Given the description of an element on the screen output the (x, y) to click on. 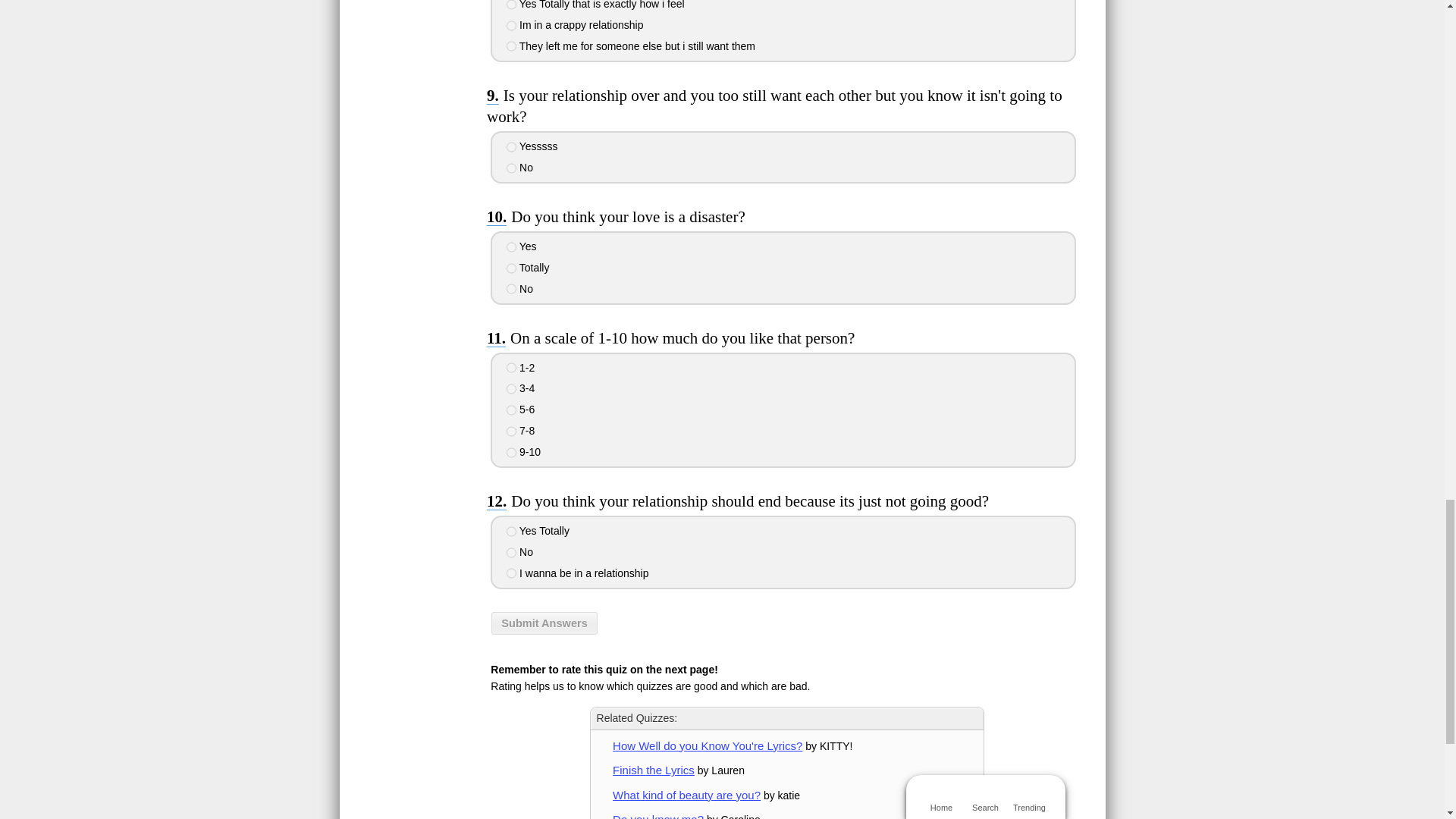
What kind of beauty are you? (686, 794)
Do you know me? (657, 816)
How Well do you Know You're Lyrics? (707, 745)
Finish the Lyrics (653, 769)
Submit Answers (544, 622)
